Given the description of an element on the screen output the (x, y) to click on. 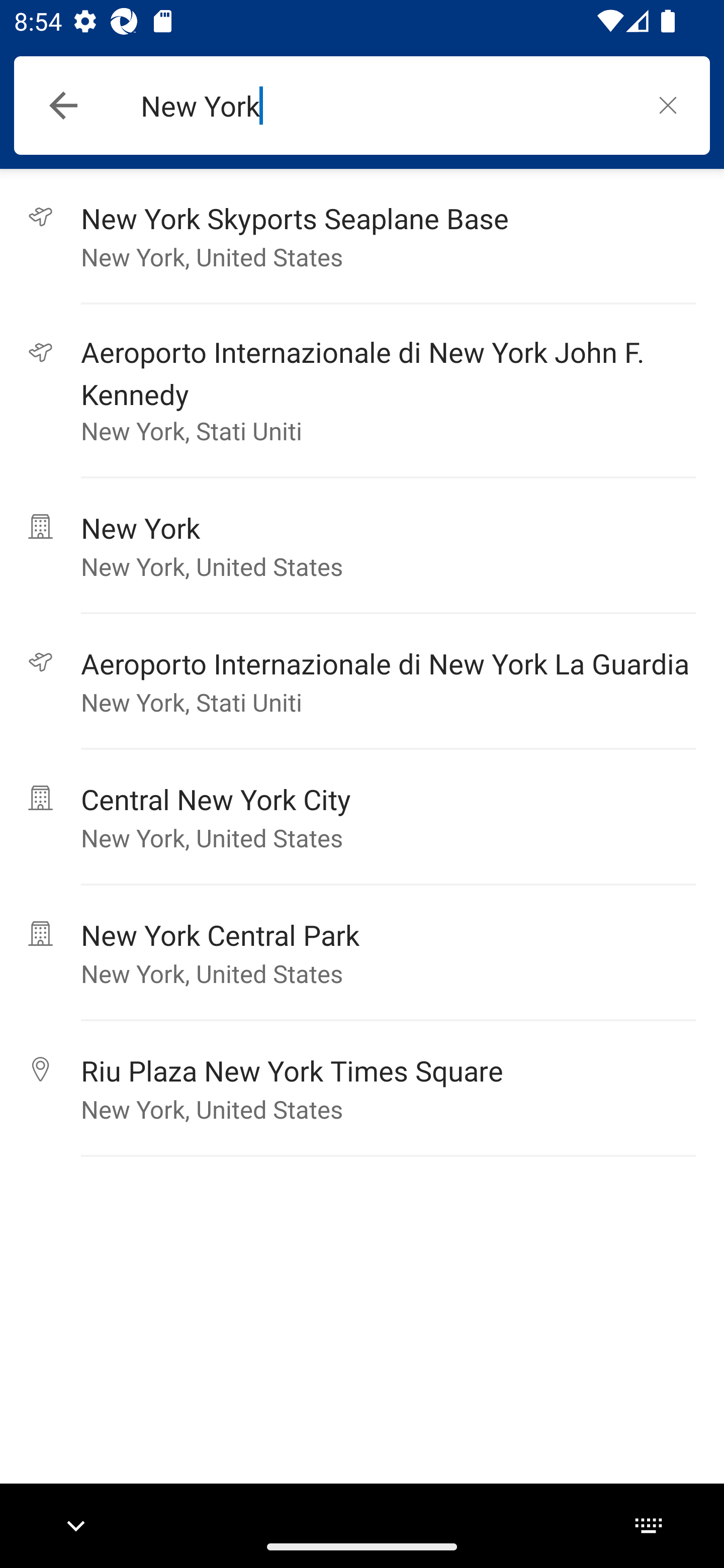
Navigate up (62, 105)
놕 (667, 104)
New York (382, 105)
넭 New York New York, United States (362, 546)
넭 Central New York City New York, United States (362, 817)
넭 New York Central Park New York, United States (362, 952)
